Given the description of an element on the screen output the (x, y) to click on. 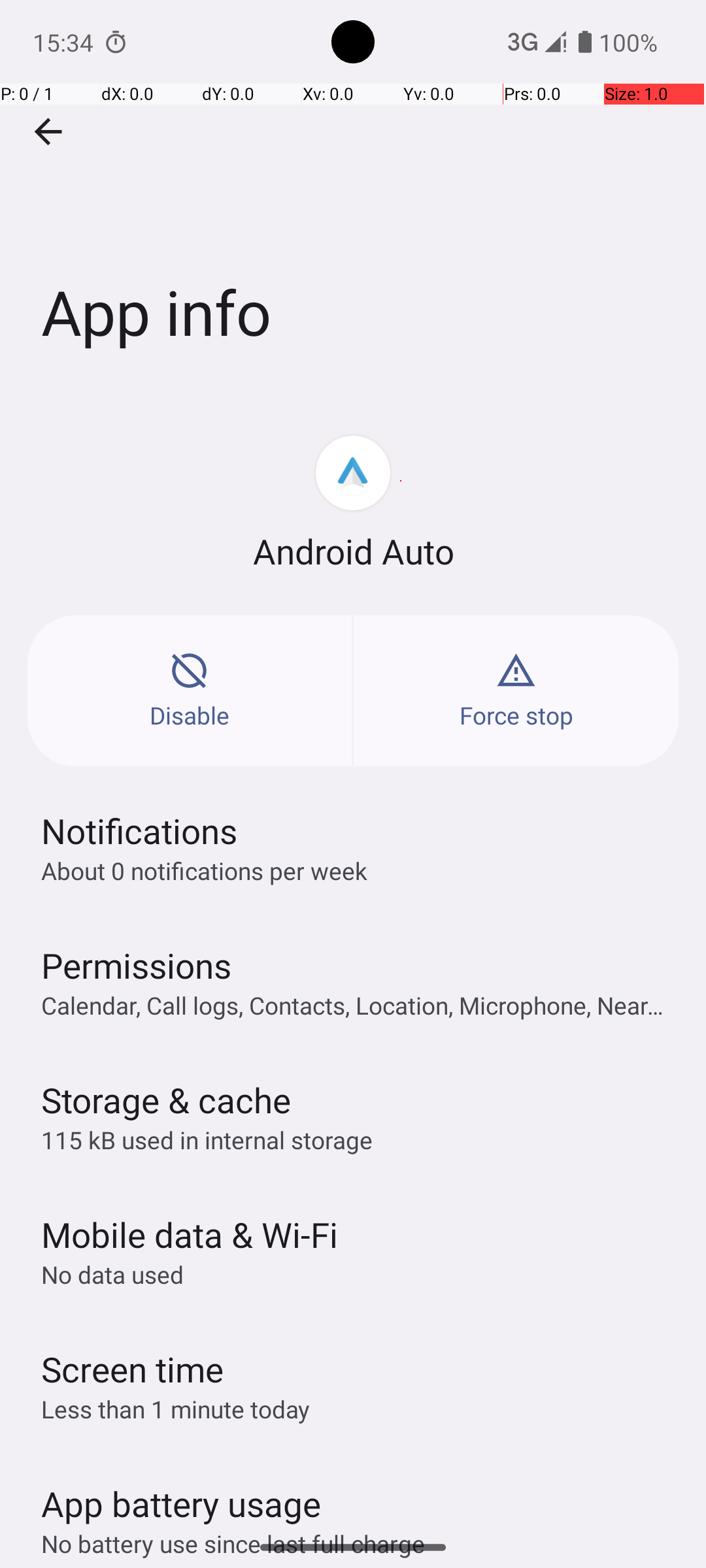
Calendar, Call logs, Contacts, Location, Microphone, Nearby devices, Notifications, Phone, and SMS Element type: android.widget.TextView (359, 1004)
115 kB used in internal storage Element type: android.widget.TextView (206, 1139)
Less than 1 minute today Element type: android.widget.TextView (175, 1408)
